Given the description of an element on the screen output the (x, y) to click on. 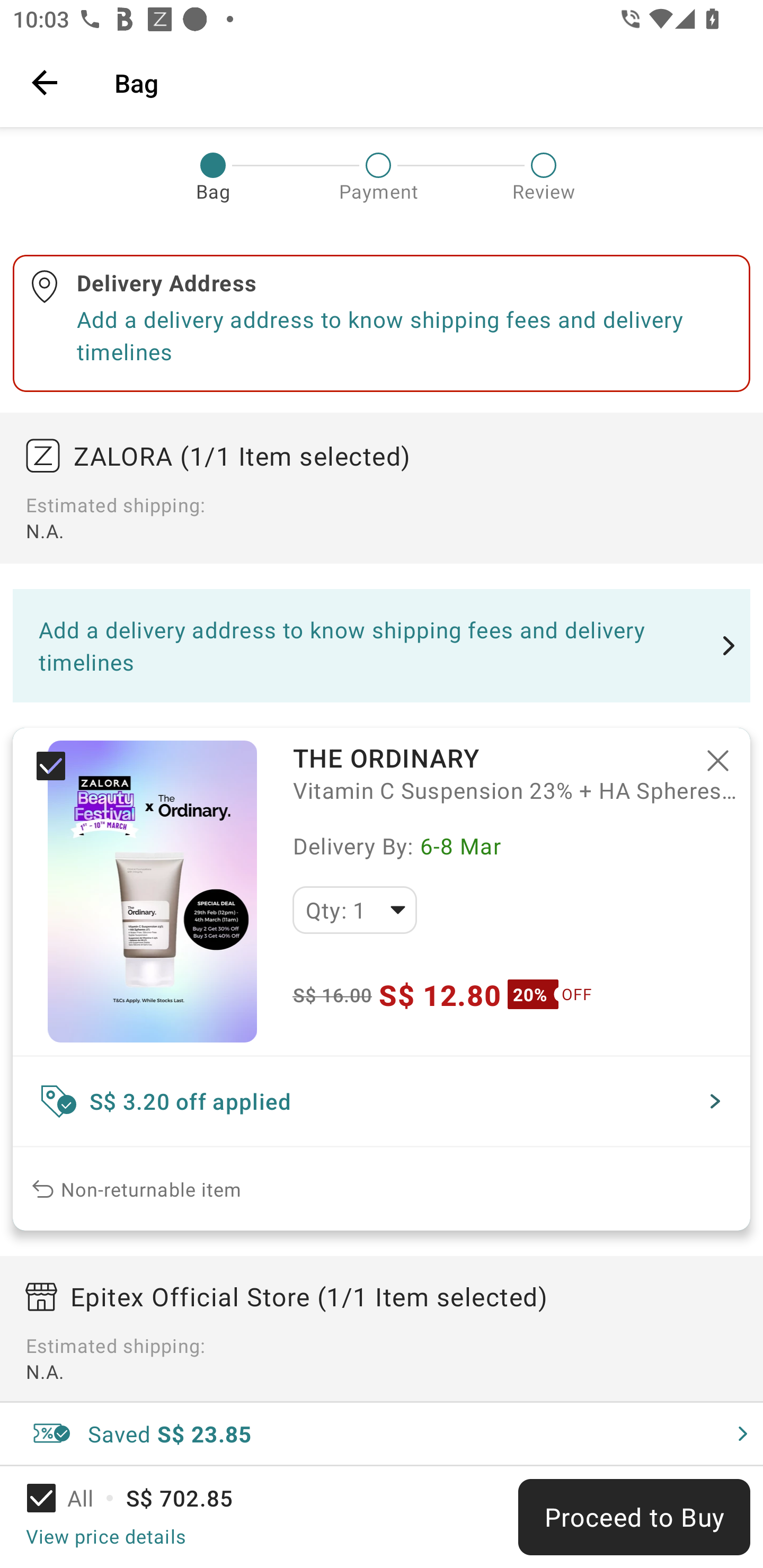
Navigate up (44, 82)
Bag (426, 82)
Qty: 1 (354, 909)
S$ 3.20 off applied (381, 1101)
Saved S$ 23.85 (381, 1433)
All (72, 1497)
Proceed to Buy (634, 1516)
View price details (105, 1535)
